Given the description of an element on the screen output the (x, y) to click on. 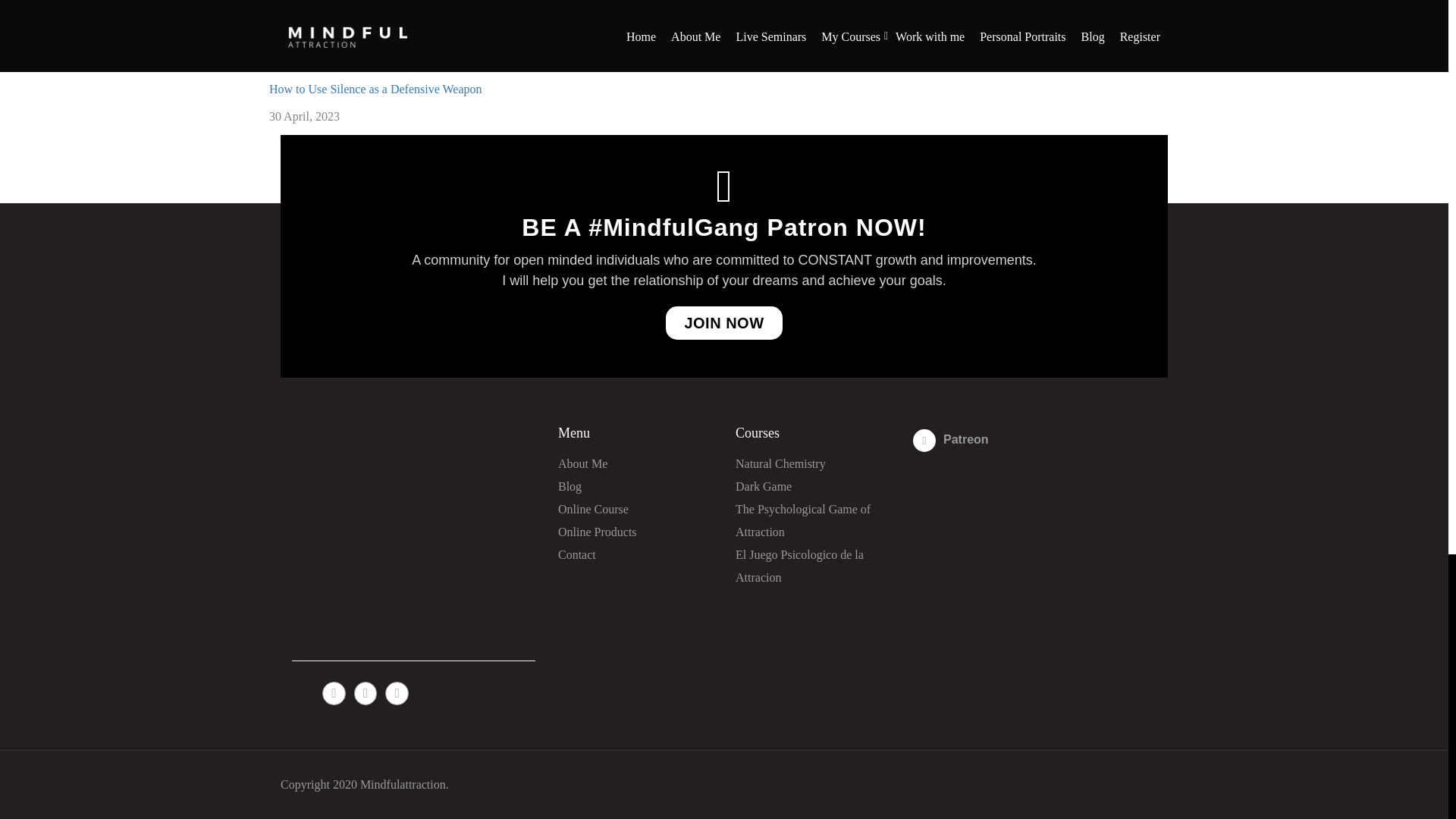
How to Use Silence as a Defensive Weapon (375, 88)
JOIN NOW (723, 322)
How to Use Silence as a Defensive Weapon (375, 88)
